Given the description of an element on the screen output the (x, y) to click on. 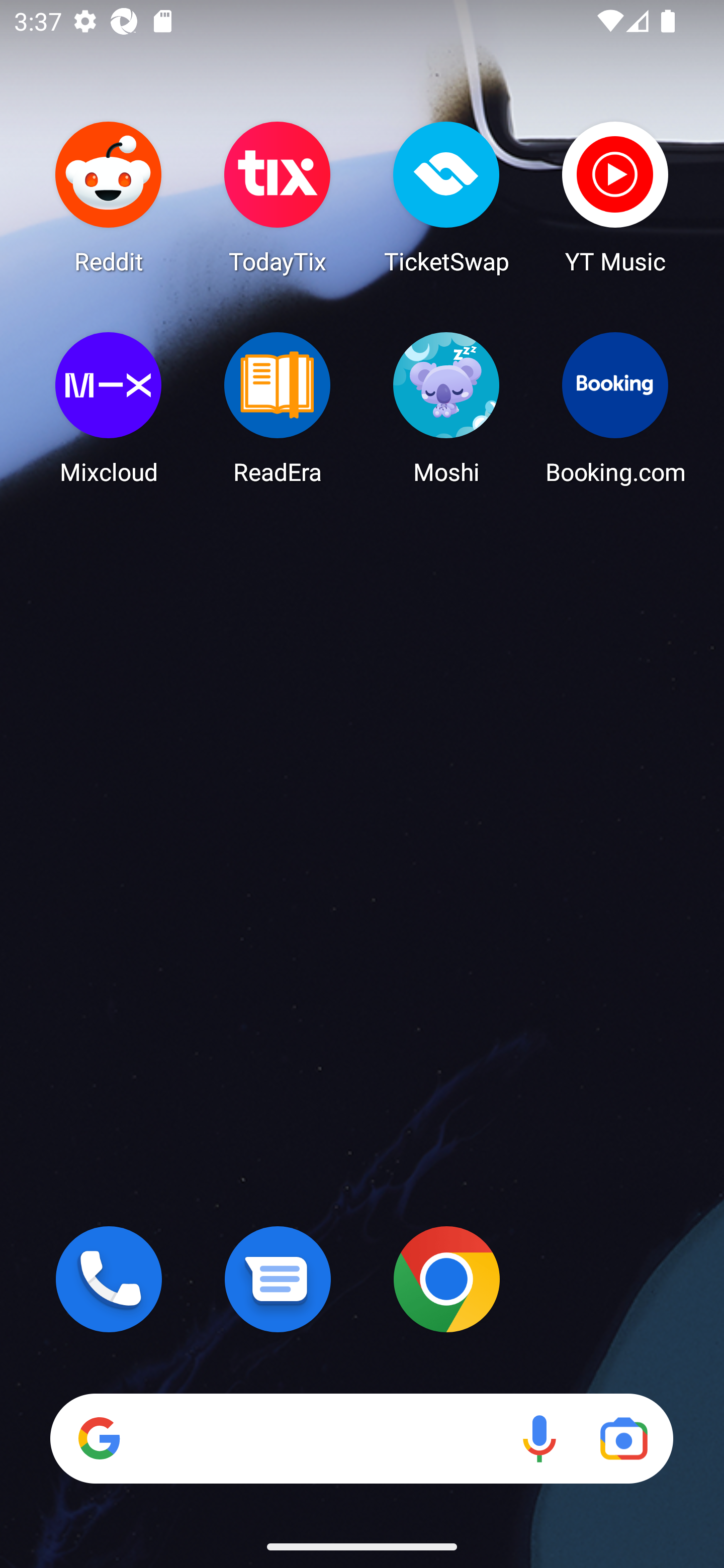
Reddit (108, 196)
TodayTix (277, 196)
TicketSwap (445, 196)
YT Music (615, 196)
Mixcloud (108, 407)
ReadEra (277, 407)
Moshi (445, 407)
Booking.com (615, 407)
Phone (108, 1279)
Messages (277, 1279)
Chrome (446, 1279)
Search Voice search Google Lens (361, 1438)
Voice search (539, 1438)
Google Lens (623, 1438)
